Given the description of an element on the screen output the (x, y) to click on. 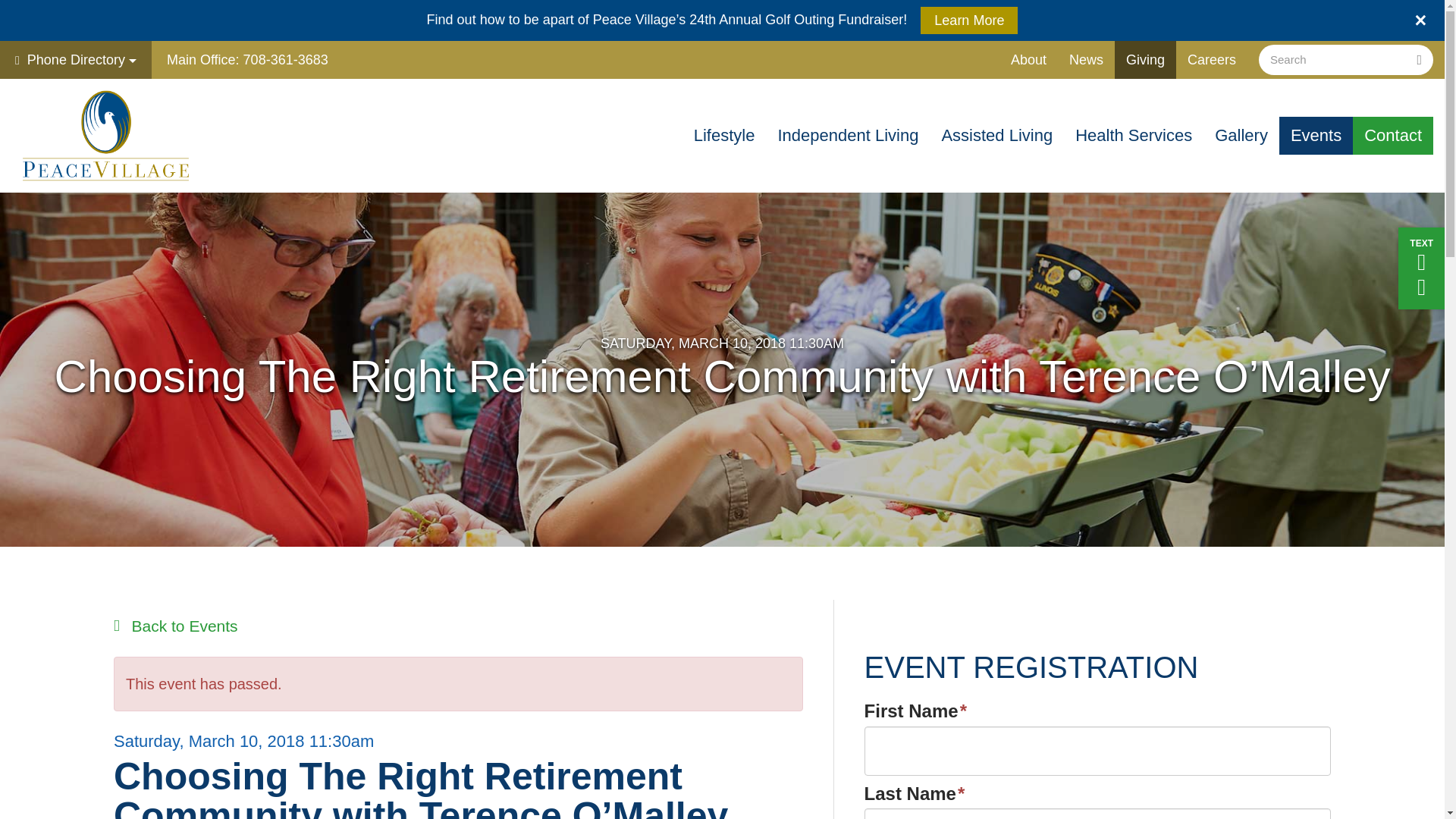
Assisted Living (997, 135)
News (1086, 59)
Phone Directory (75, 59)
Learn More (968, 20)
Back to Events (175, 625)
Independent Living (847, 135)
Our Team (1065, 96)
Peace Village (106, 135)
Giving (1145, 59)
Volunteers708-671-2495 (120, 95)
